Given the description of an element on the screen output the (x, y) to click on. 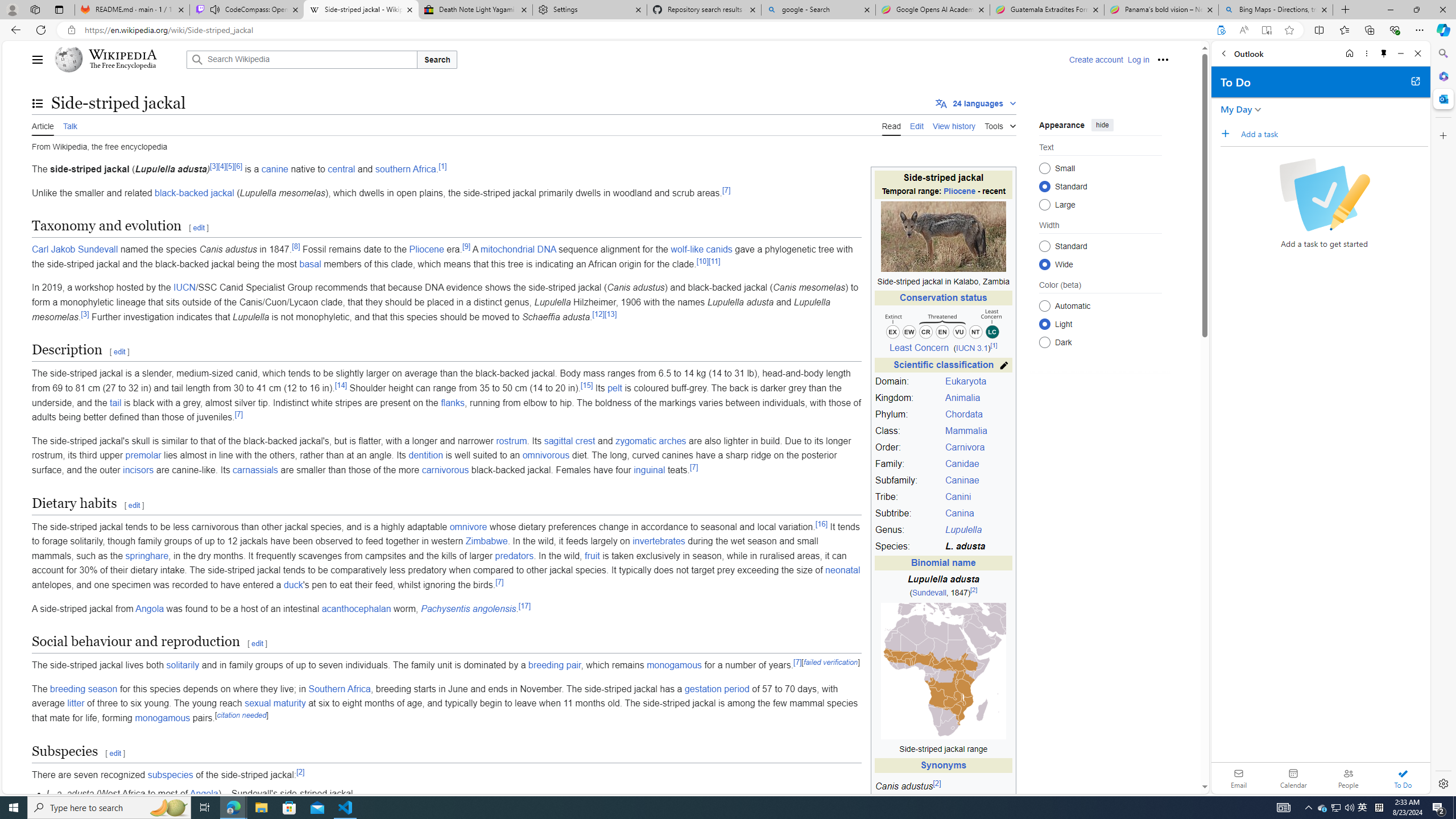
inguinal (649, 469)
Lupulella (977, 530)
Side-striped jackal range (942, 749)
breeding pair (554, 665)
Subfamily: (908, 480)
Google Opens AI Academy for Startups - Nearshore Americas (932, 9)
Personal tools (1162, 59)
Class: mw-list-item mw-list-item-js (1100, 323)
Pliocene (426, 249)
breeding season (83, 688)
Open in new tab (1414, 80)
Lupulella (963, 529)
monogamous (162, 718)
